Given the description of an element on the screen output the (x, y) to click on. 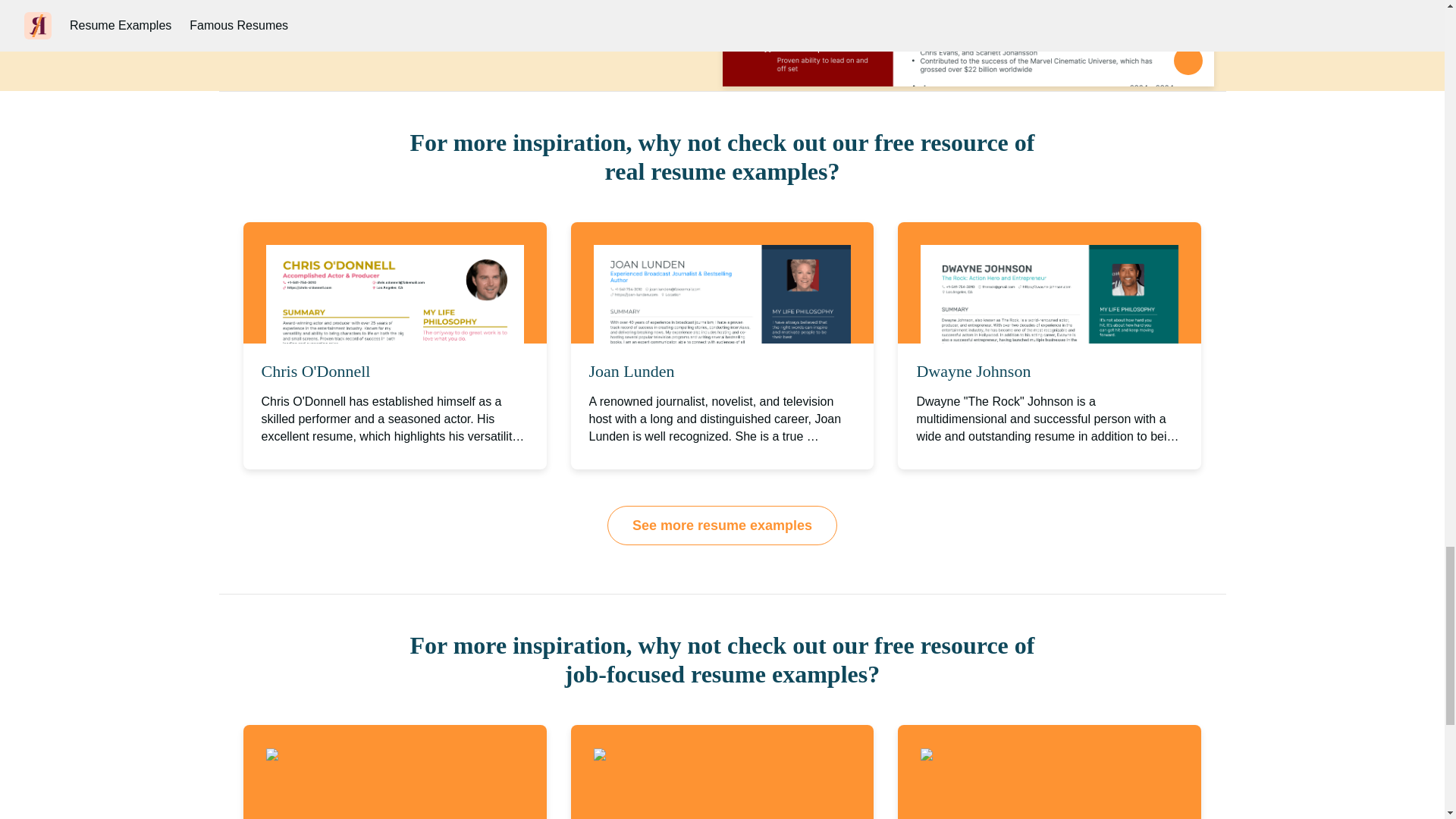
Investment Banker's resume (683, 755)
See more resume examples (722, 525)
Circuit Design Engineer's resume (1022, 755)
Training Director's resume (352, 755)
